Given the description of an element on the screen output the (x, y) to click on. 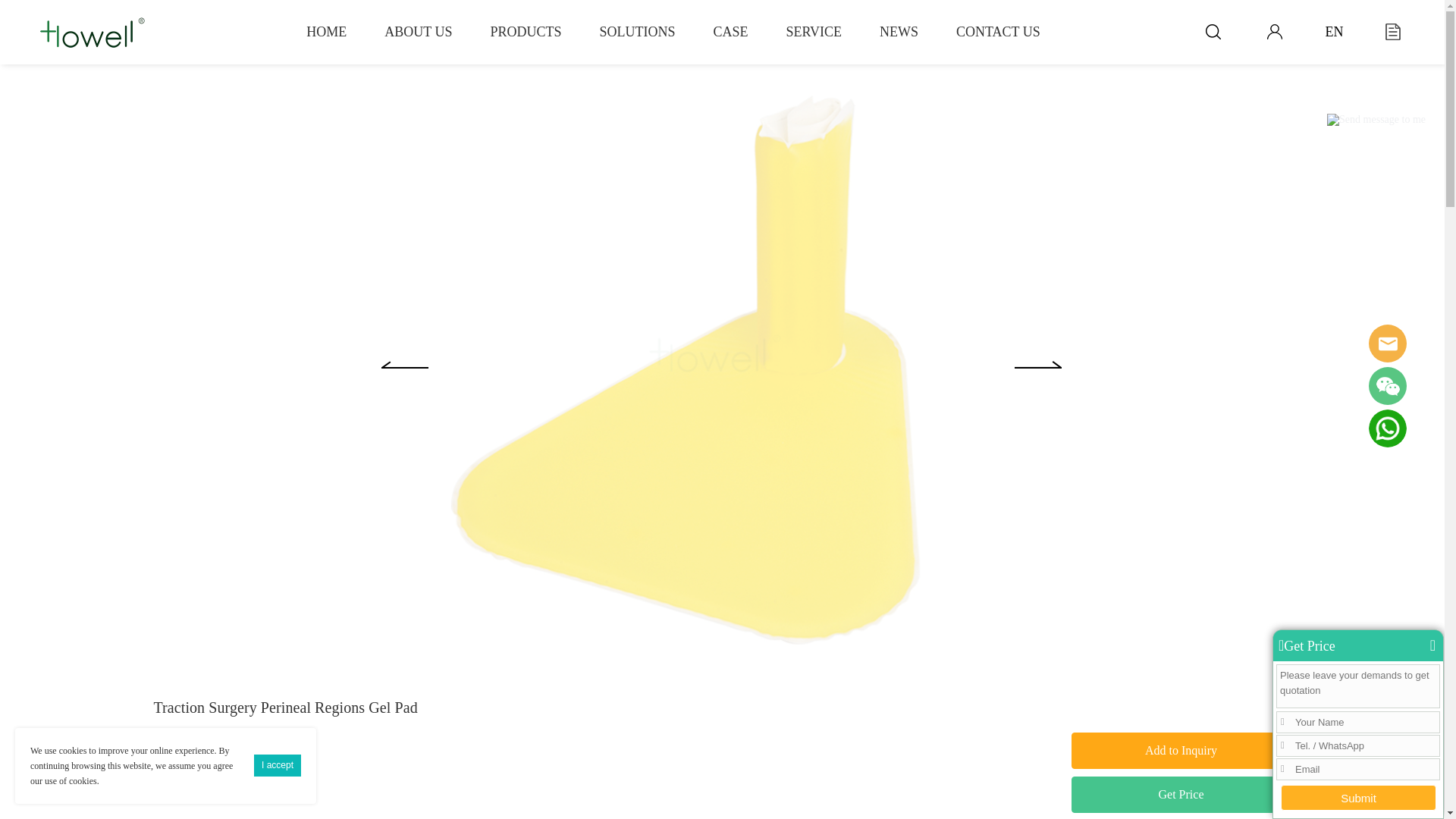
PRODUCTS (524, 32)
I accept (277, 765)
Submit (1358, 797)
ABOUT US (417, 32)
ABOUT US (417, 32)
SOLUTIONS (636, 32)
PRODUCTS (524, 32)
